Given the description of an element on the screen output the (x, y) to click on. 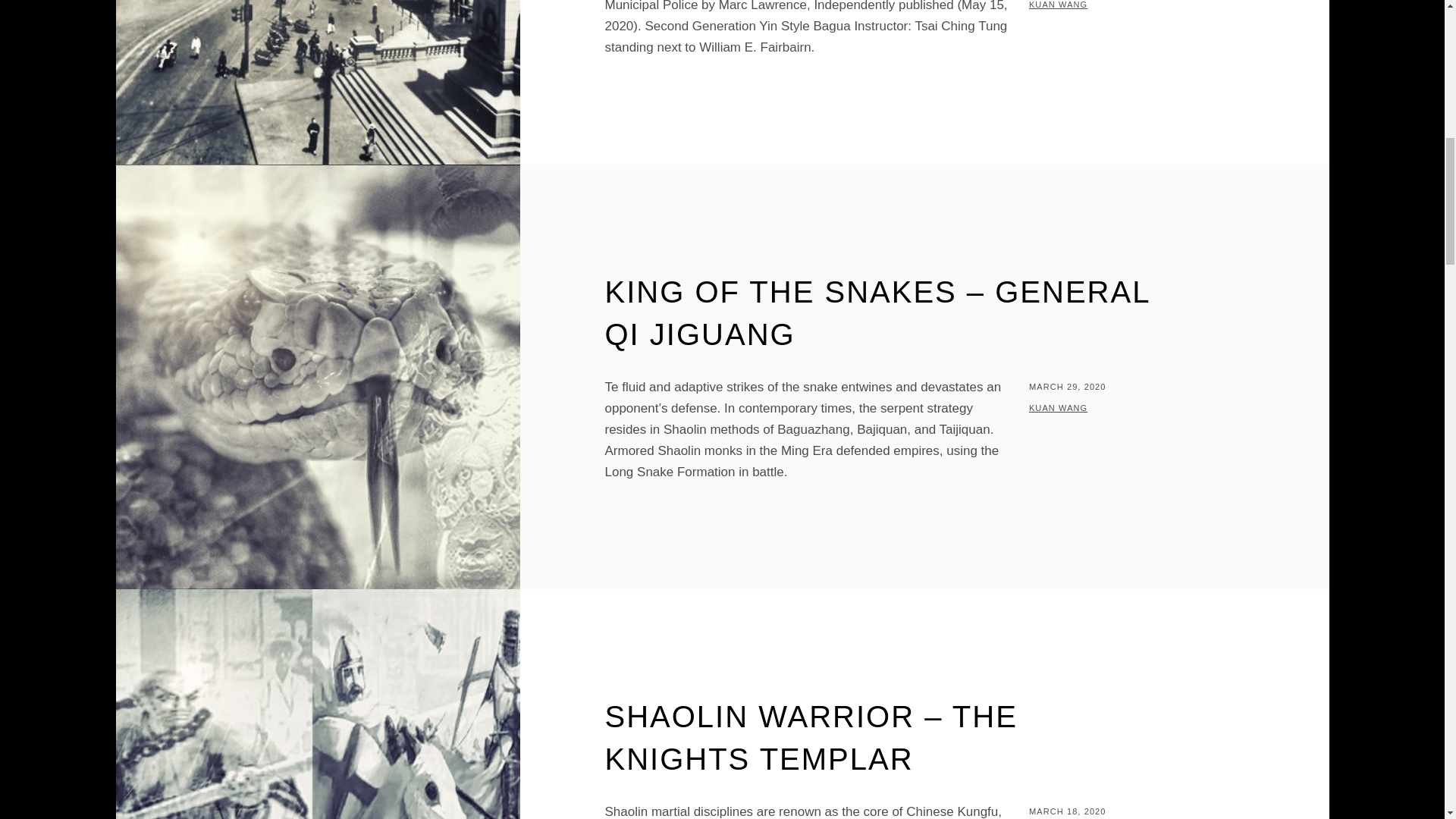
KUAN WANG (1058, 4)
KUAN WANG (1058, 407)
